Given the description of an element on the screen output the (x, y) to click on. 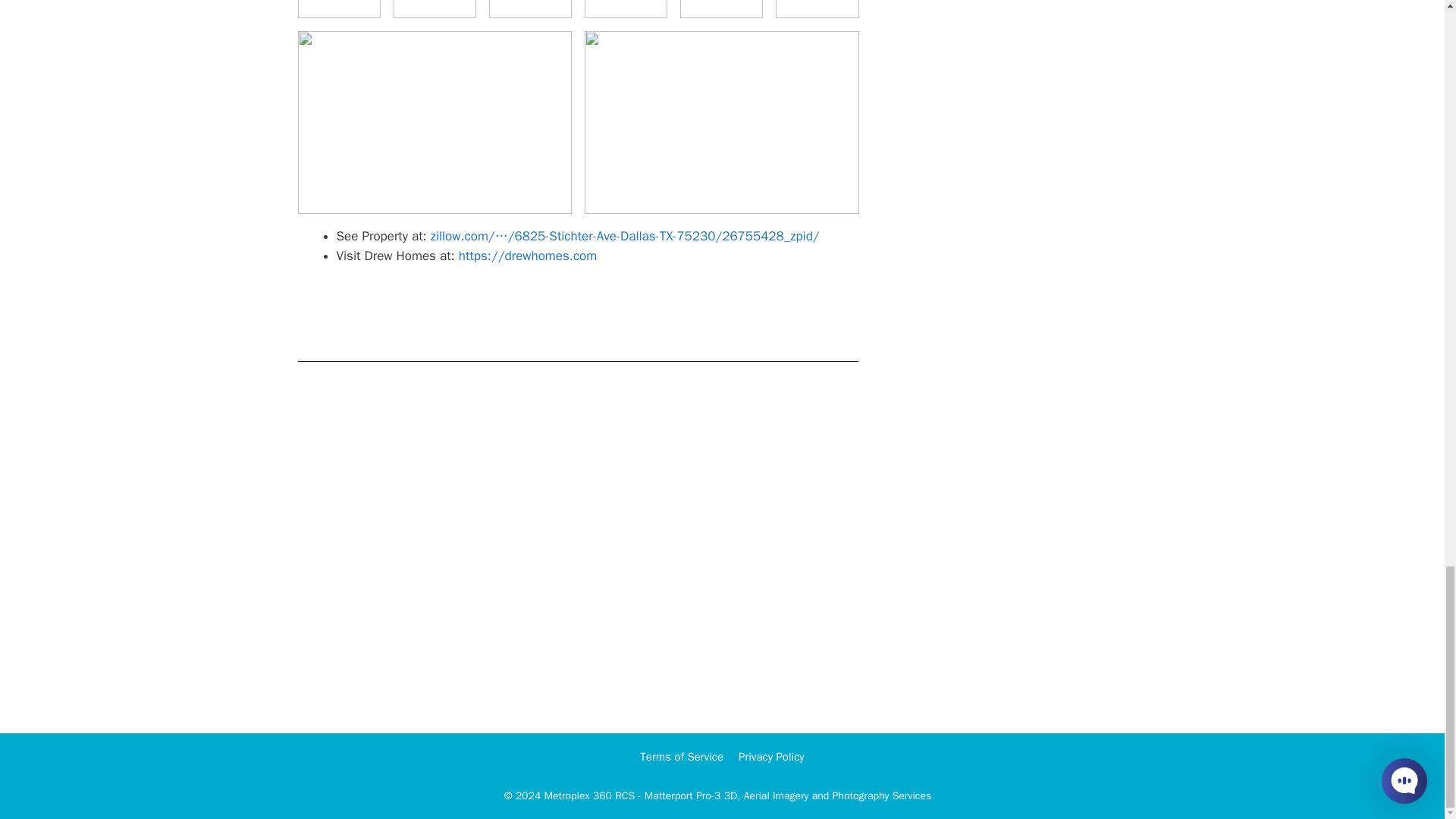
Privacy Policy (771, 756)
Terms of Service (681, 756)
